Given the description of an element on the screen output the (x, y) to click on. 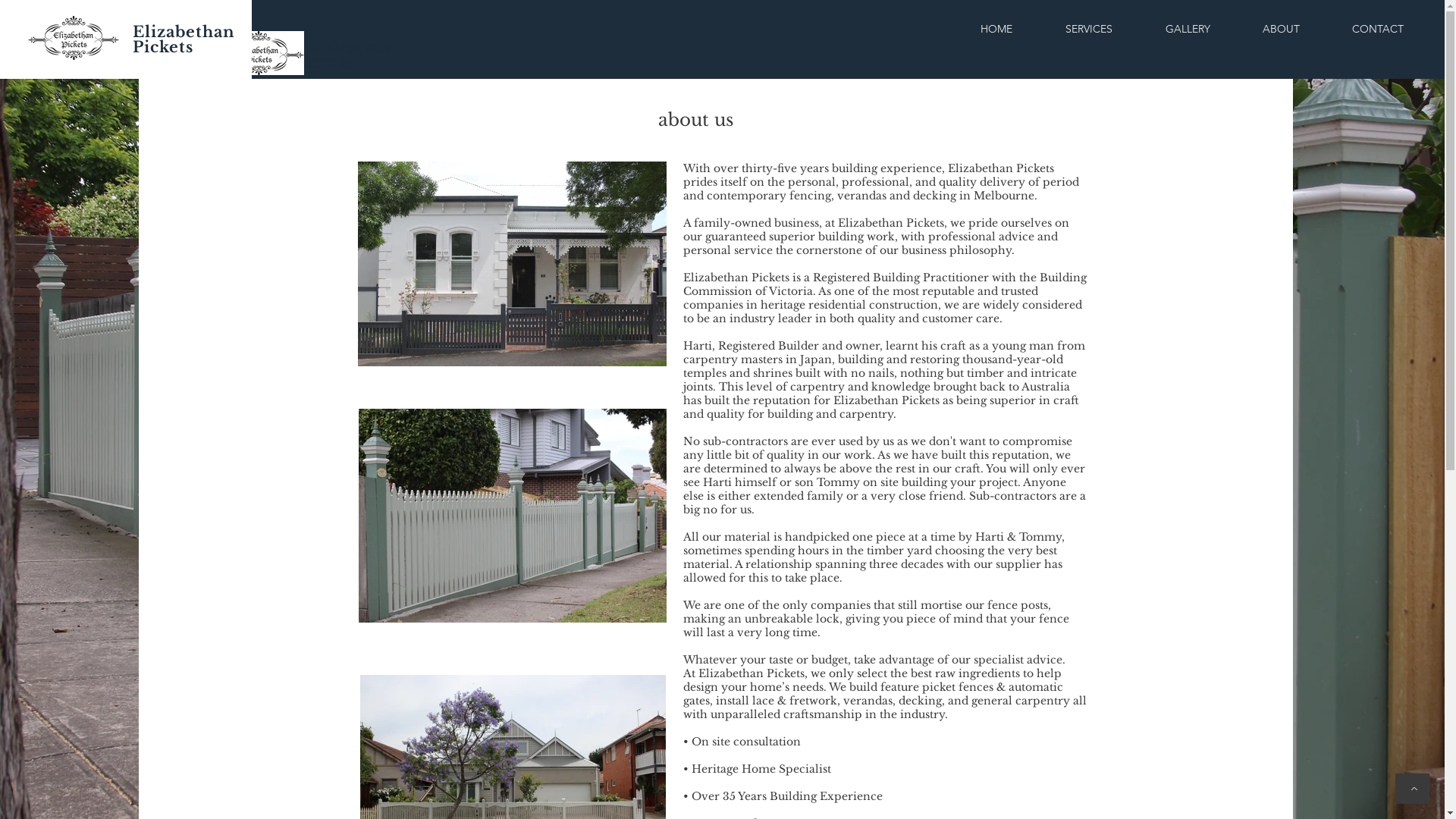
ABOUT Element type: text (1280, 29)
HOME Element type: text (995, 29)
Elizabethan  Element type: text (345, 46)
Elizabethan  Element type: text (185, 31)
CONTACT Element type: text (1377, 29)
SERVICES Element type: text (1088, 29)
GALLERY Element type: text (1187, 29)
